Given the description of an element on the screen output the (x, y) to click on. 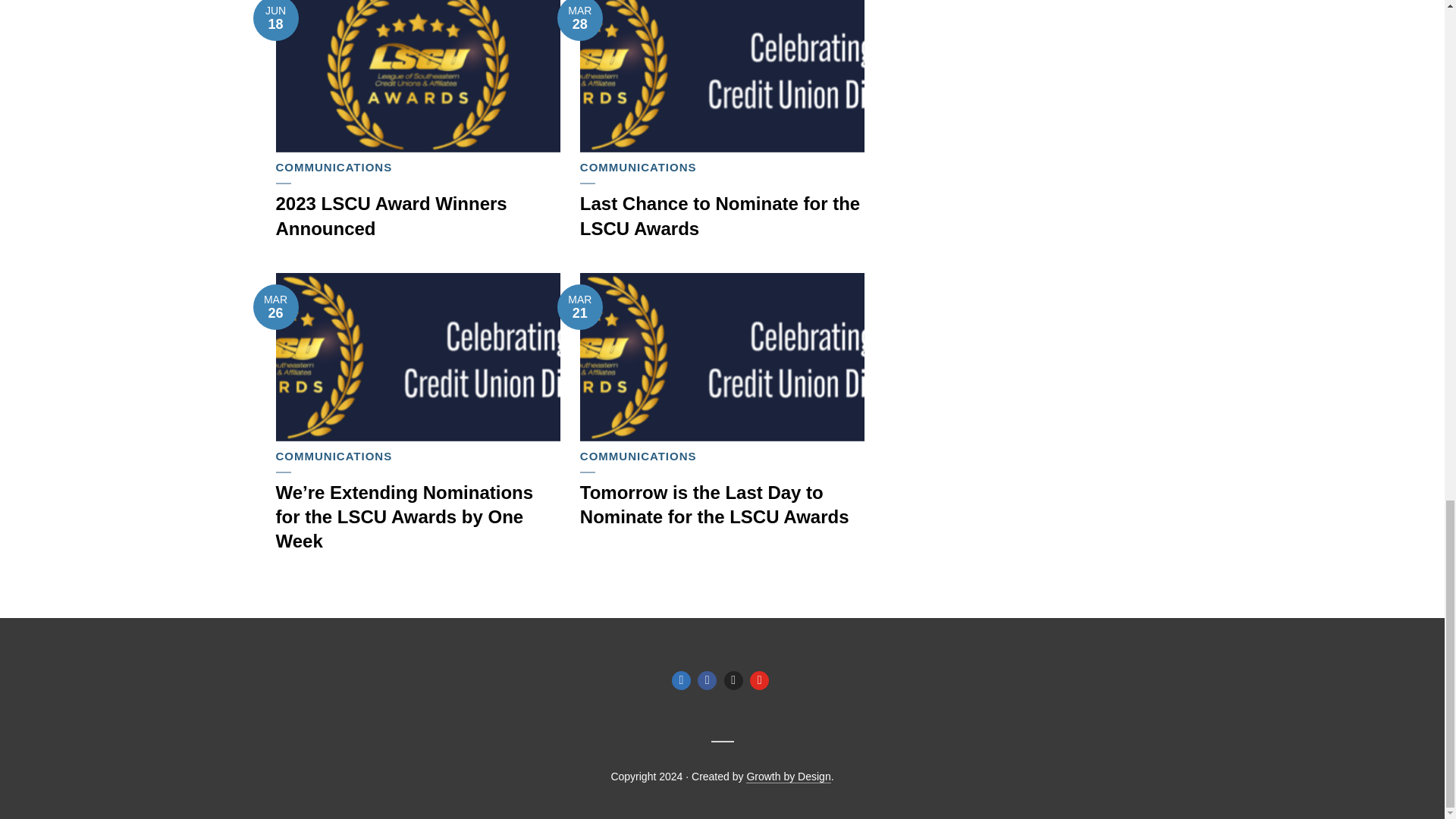
Linkedin (680, 680)
YouTube (758, 680)
Facebook (706, 680)
